Given the description of an element on the screen output the (x, y) to click on. 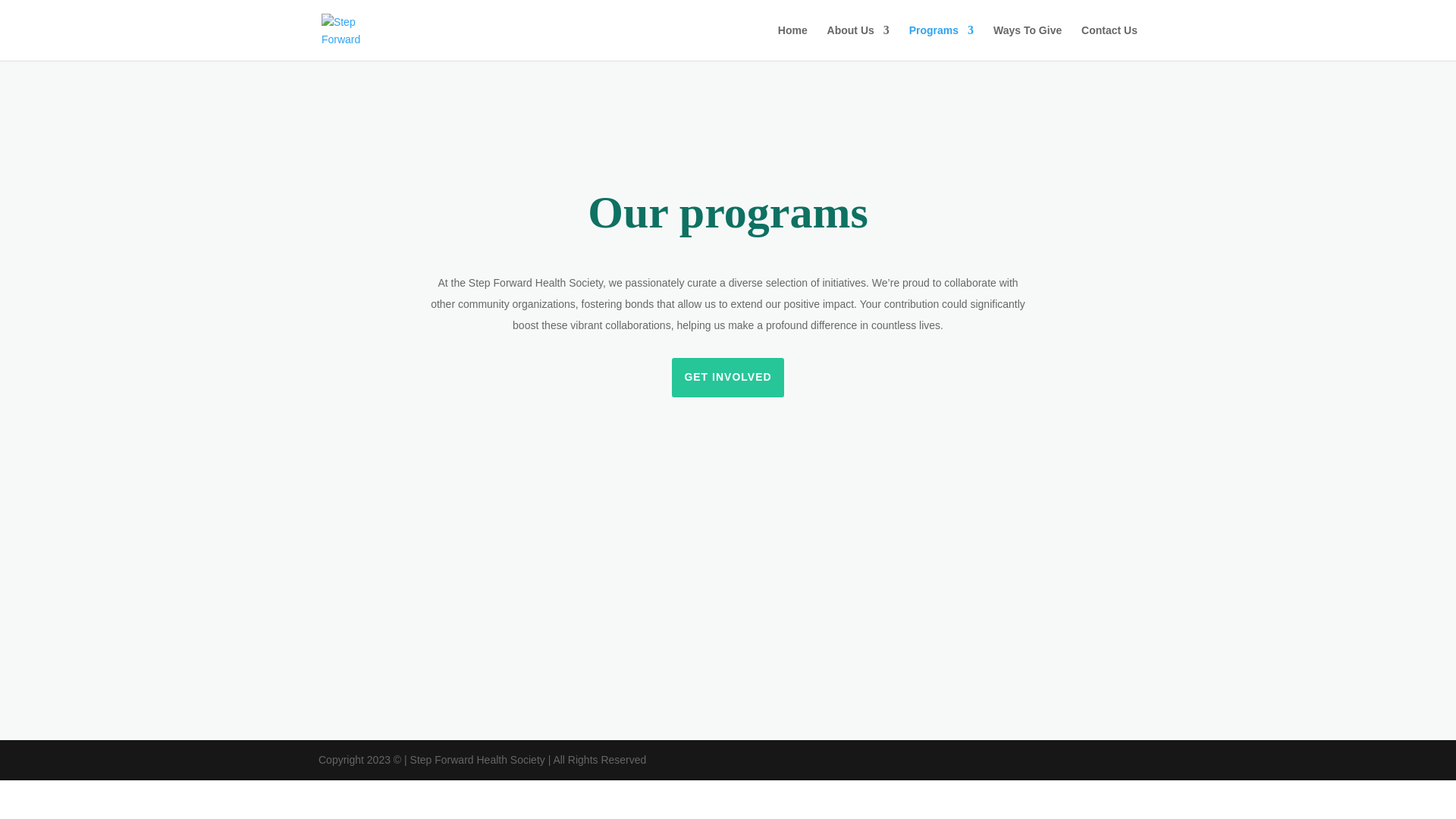
Contact Us (1109, 42)
About Us (858, 42)
GET INVOLVED (727, 377)
Ways To Give (1026, 42)
Programs (941, 42)
